Given the description of an element on the screen output the (x, y) to click on. 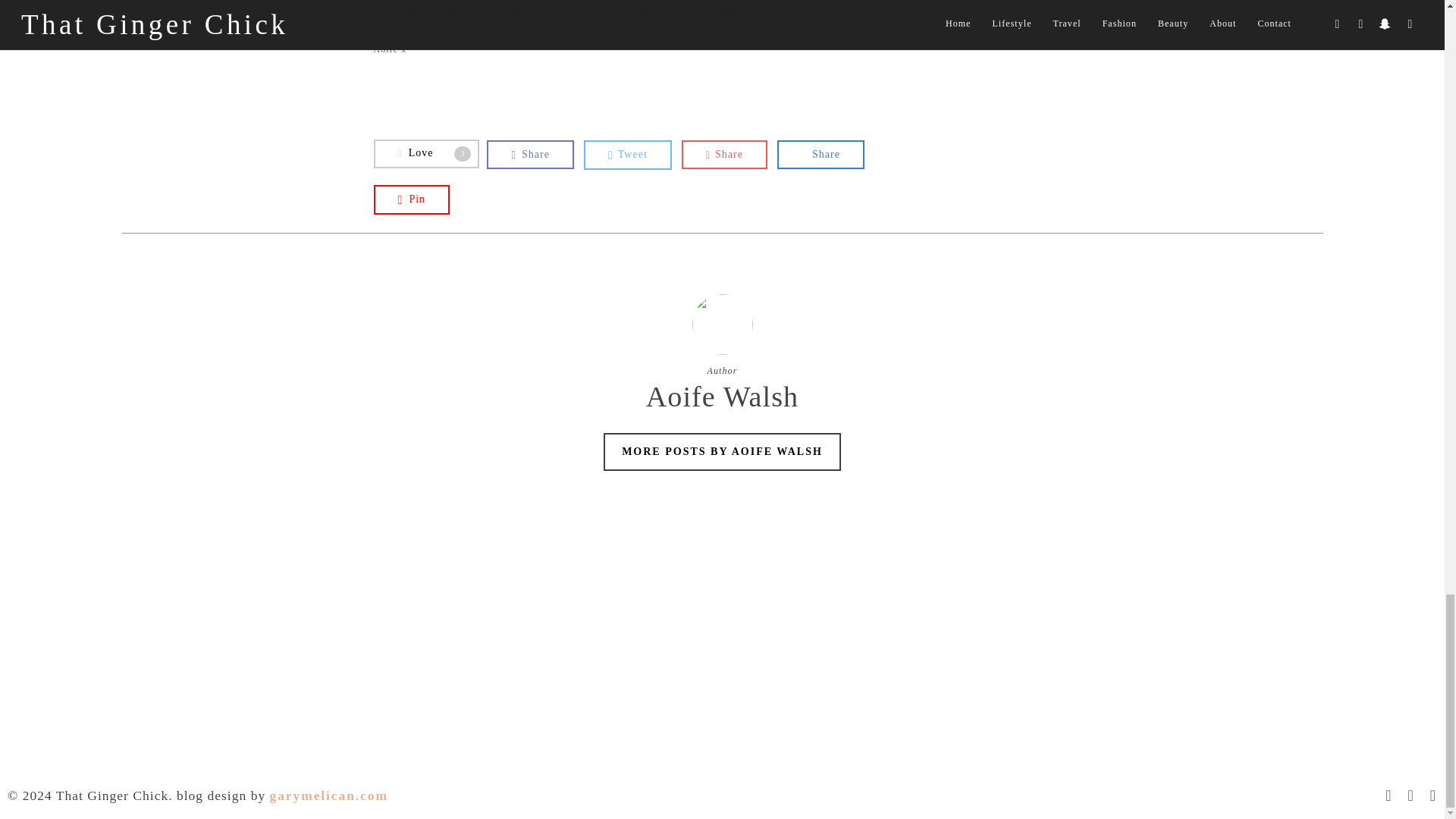
Tweet (627, 155)
Pin this (425, 153)
Share this (410, 199)
Share this (529, 154)
Share (724, 154)
Tweet this (724, 154)
Share this (627, 155)
Pin (820, 154)
Love this (410, 199)
Share (425, 153)
Share (529, 154)
